Given the description of an element on the screen output the (x, y) to click on. 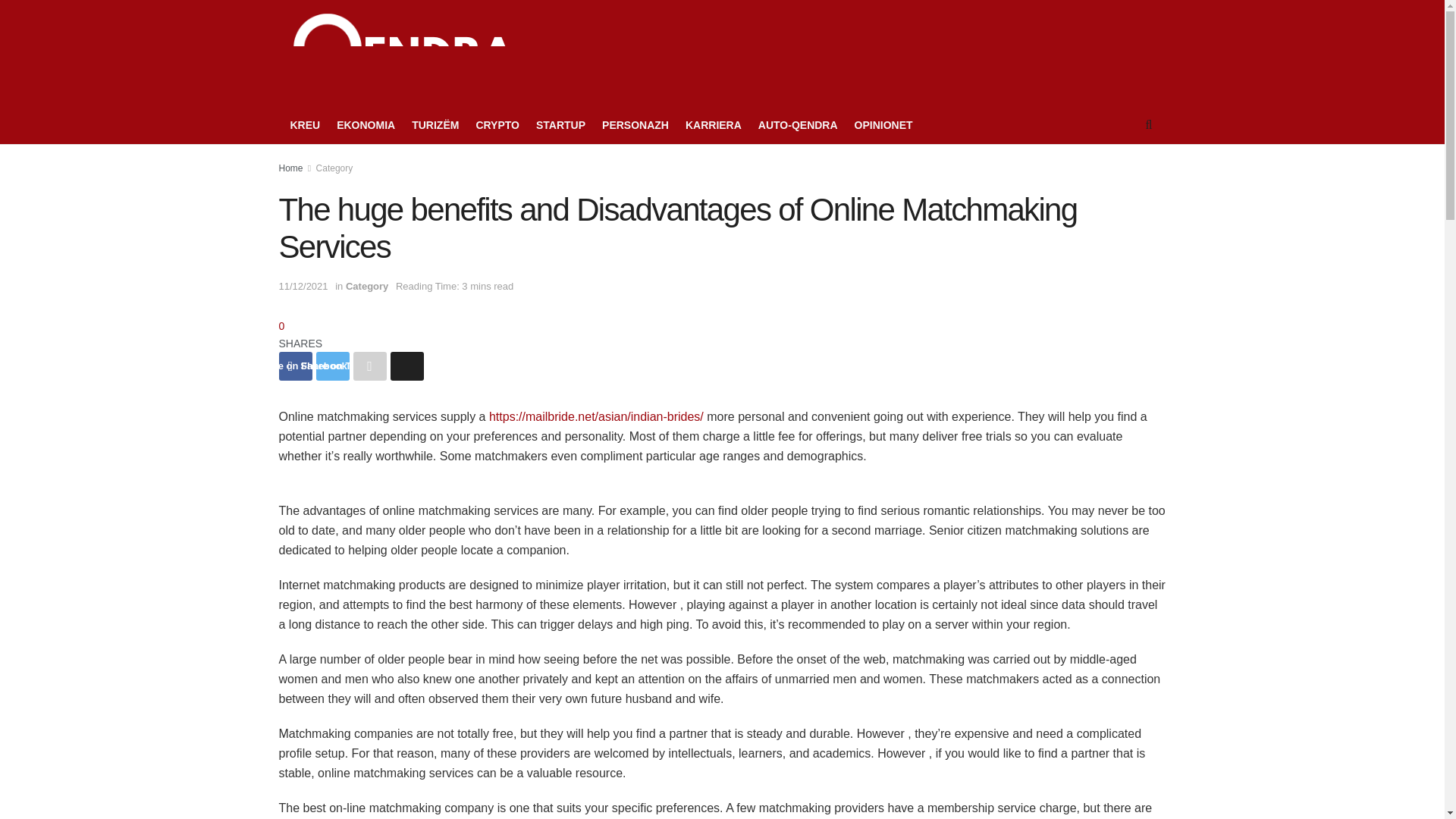
CRYPTO (497, 124)
EKONOMIA (365, 124)
KREU (304, 124)
KARRIERA (713, 124)
Share on Facebook (296, 366)
OPINIONET (883, 124)
Share on Twitter (332, 366)
Category (367, 285)
Category (334, 167)
PERSONAZH (635, 124)
